Given the description of an element on the screen output the (x, y) to click on. 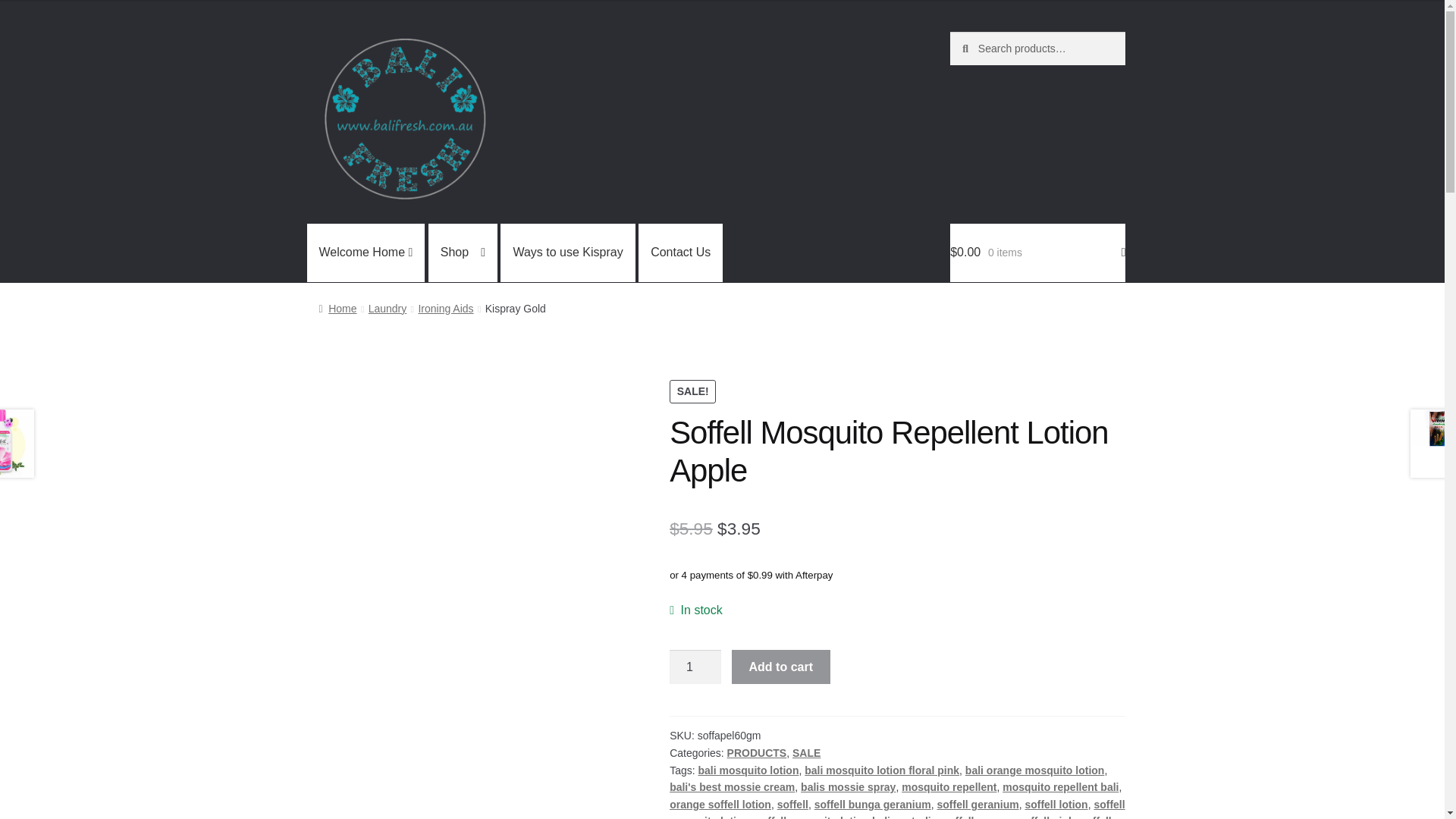
Ironing Aids (445, 308)
bali mosquito lotion (747, 770)
View your shopping cart (1037, 252)
PRODUCTS (756, 752)
Home (337, 308)
Shop (462, 252)
1 (694, 667)
Ways to use Kispray (567, 252)
bali mosquito lotion floral pink (882, 770)
